Given the description of an element on the screen output the (x, y) to click on. 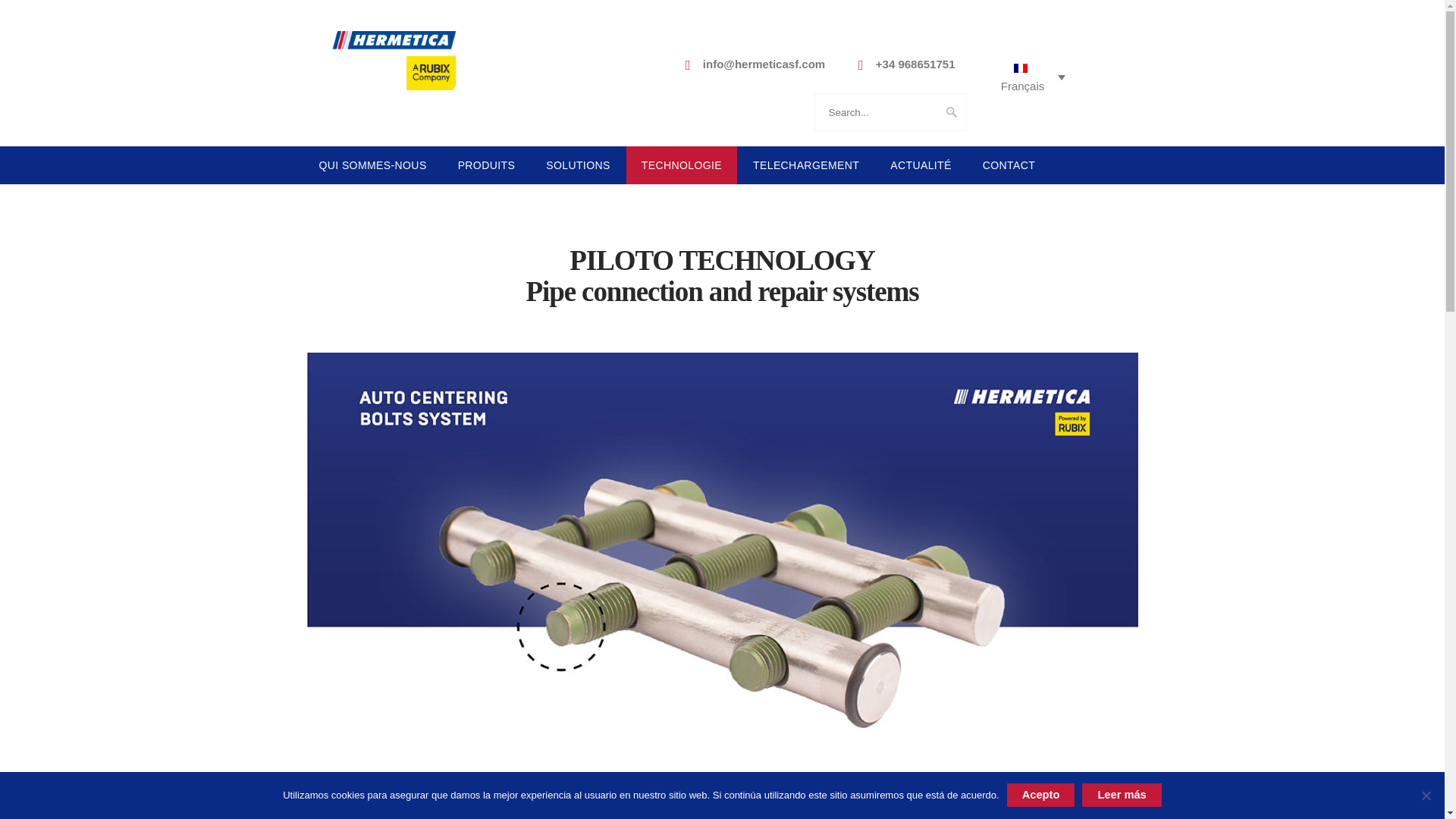
TELECHARGEMENT (806, 165)
CONTACT (1009, 165)
SOLUTIONS (578, 165)
PRODUITS (486, 165)
QUI SOMMES-NOUS (372, 165)
TECHNOLOGIE (682, 165)
